Given the description of an element on the screen output the (x, y) to click on. 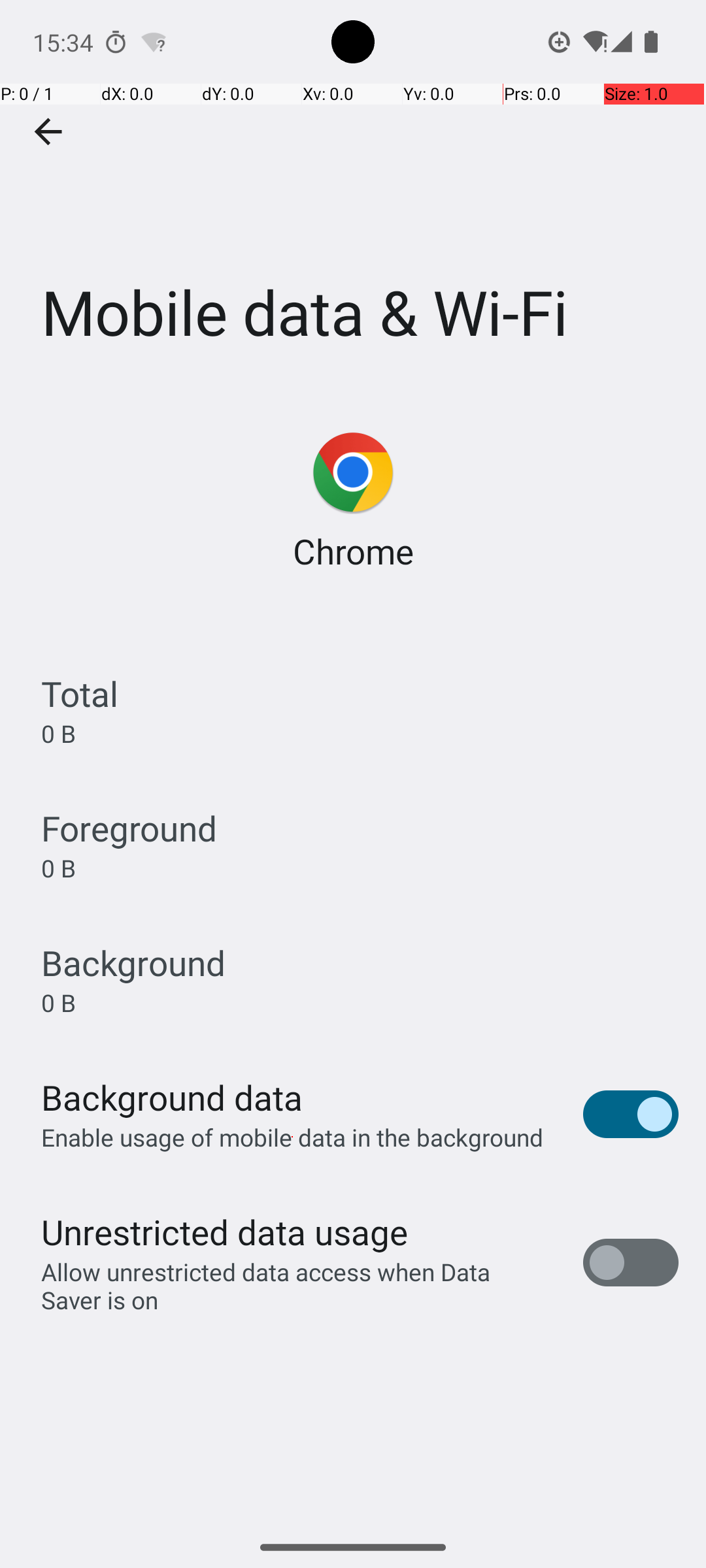
Background data Element type: android.widget.TextView (171, 1097)
Enable usage of mobile data in the background Element type: android.widget.TextView (292, 1136)
Unrestricted data usage Element type: android.widget.TextView (224, 1231)
Allow unrestricted data access when Data Saver is on Element type: android.widget.TextView (298, 1285)
